Given the description of an element on the screen output the (x, y) to click on. 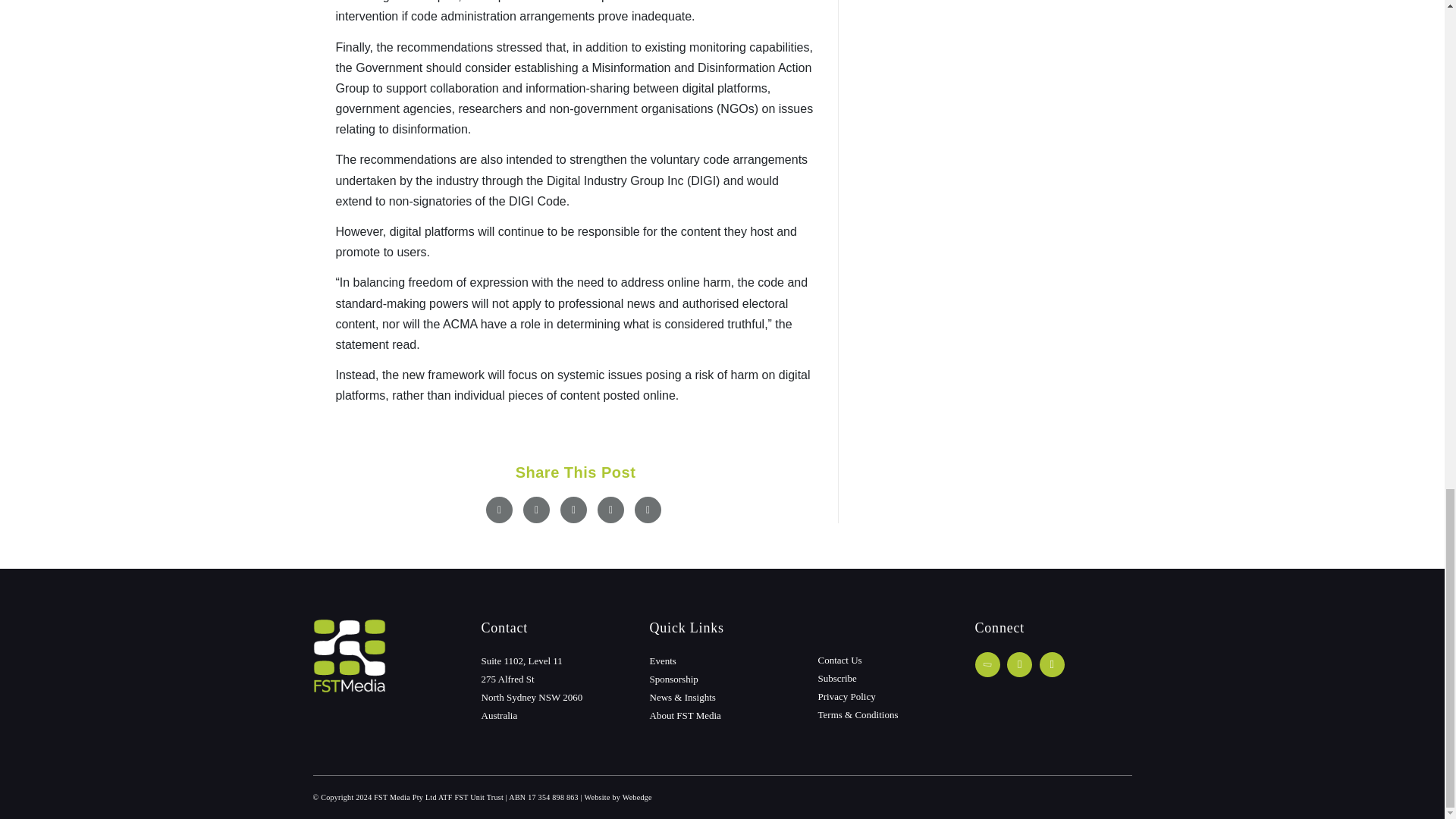
WhatsApp (610, 509)
Email (647, 509)
Twitter (536, 509)
LinkedIn (573, 509)
Facebook (499, 509)
Phone (987, 664)
